Given the description of an element on the screen output the (x, y) to click on. 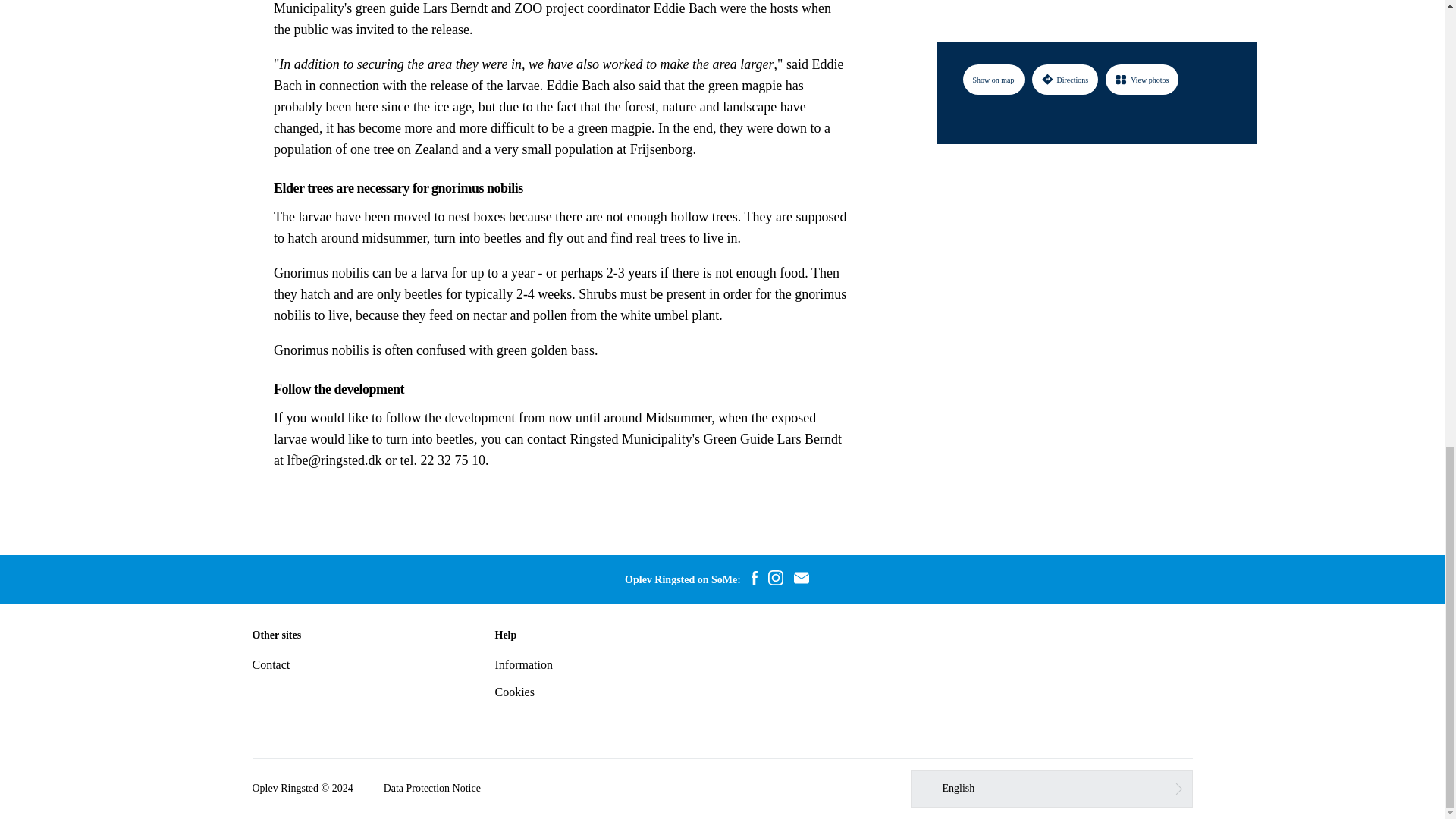
Contact (270, 664)
Information (523, 664)
Contact (270, 664)
instagram (775, 579)
Cookies (514, 691)
facebook (753, 579)
Data Protection Notice (432, 788)
Information (523, 664)
newsletter (801, 579)
Data Protection Notice (432, 788)
